Given the description of an element on the screen output the (x, y) to click on. 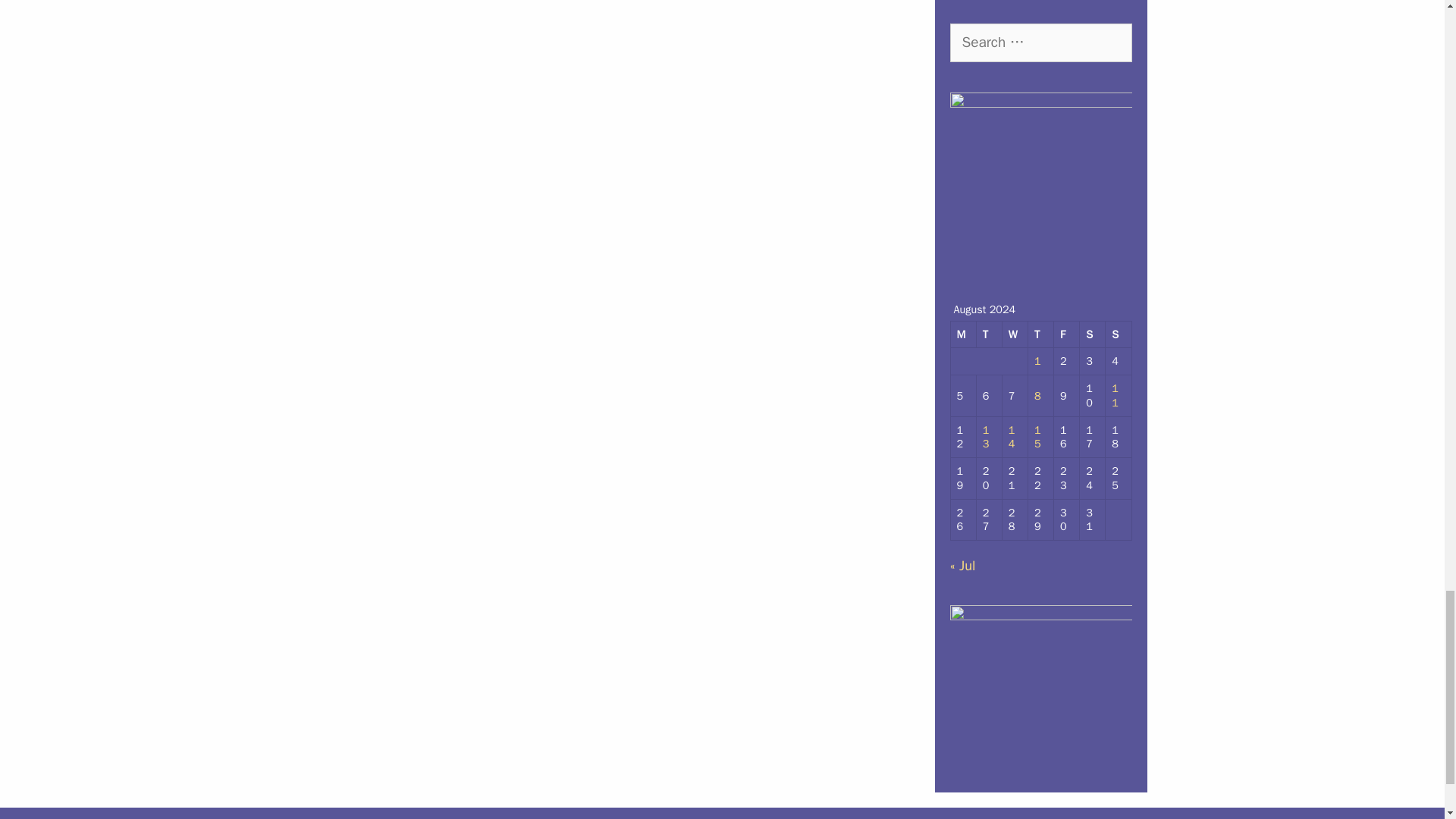
Thursday (1040, 334)
Friday (1067, 334)
Saturday (1092, 334)
Tuesday (989, 334)
Search for: (1040, 42)
Wednesday (1015, 334)
Monday (963, 334)
